Given the description of an element on the screen output the (x, y) to click on. 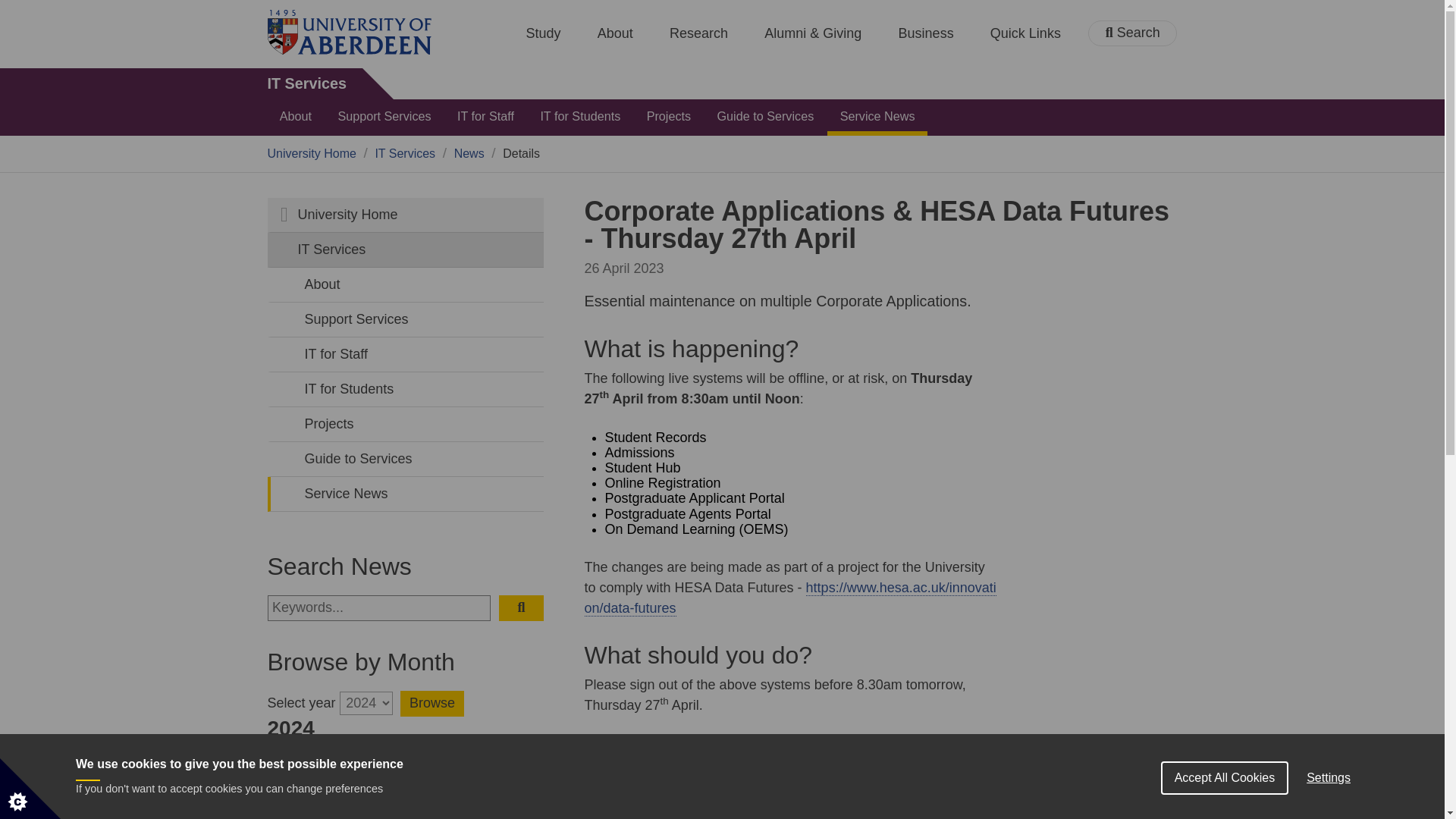
About (614, 33)
Accept All Cookies (1224, 805)
View items for January 2024 (311, 770)
Study (542, 33)
View items for June 2024 (498, 807)
Settings (1328, 798)
View items for March 2024 (498, 770)
View items for May 2024 (404, 807)
View items for February 2024 (404, 770)
View items for April 2024 (311, 807)
